Given the description of an element on the screen output the (x, y) to click on. 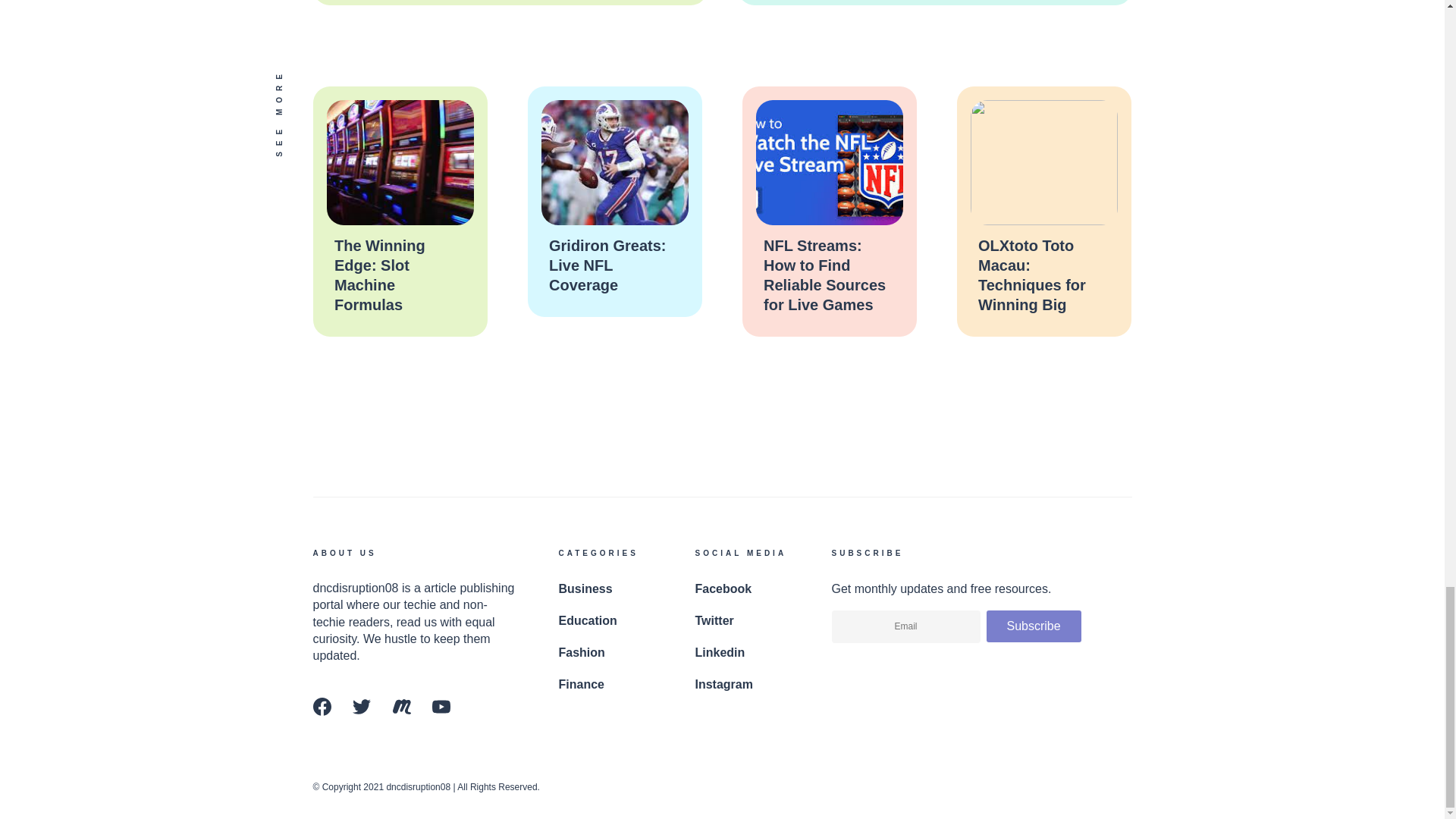
The Winning Edge: Slot Machine Formulas (379, 274)
NFL Streams: How to Find Reliable Sources for Live Games (823, 274)
Gridiron Greats: Live NFL Coverage (606, 265)
OLXtoto Toto Macau: Techniques for Winning Big (1032, 274)
